Given the description of an element on the screen output the (x, y) to click on. 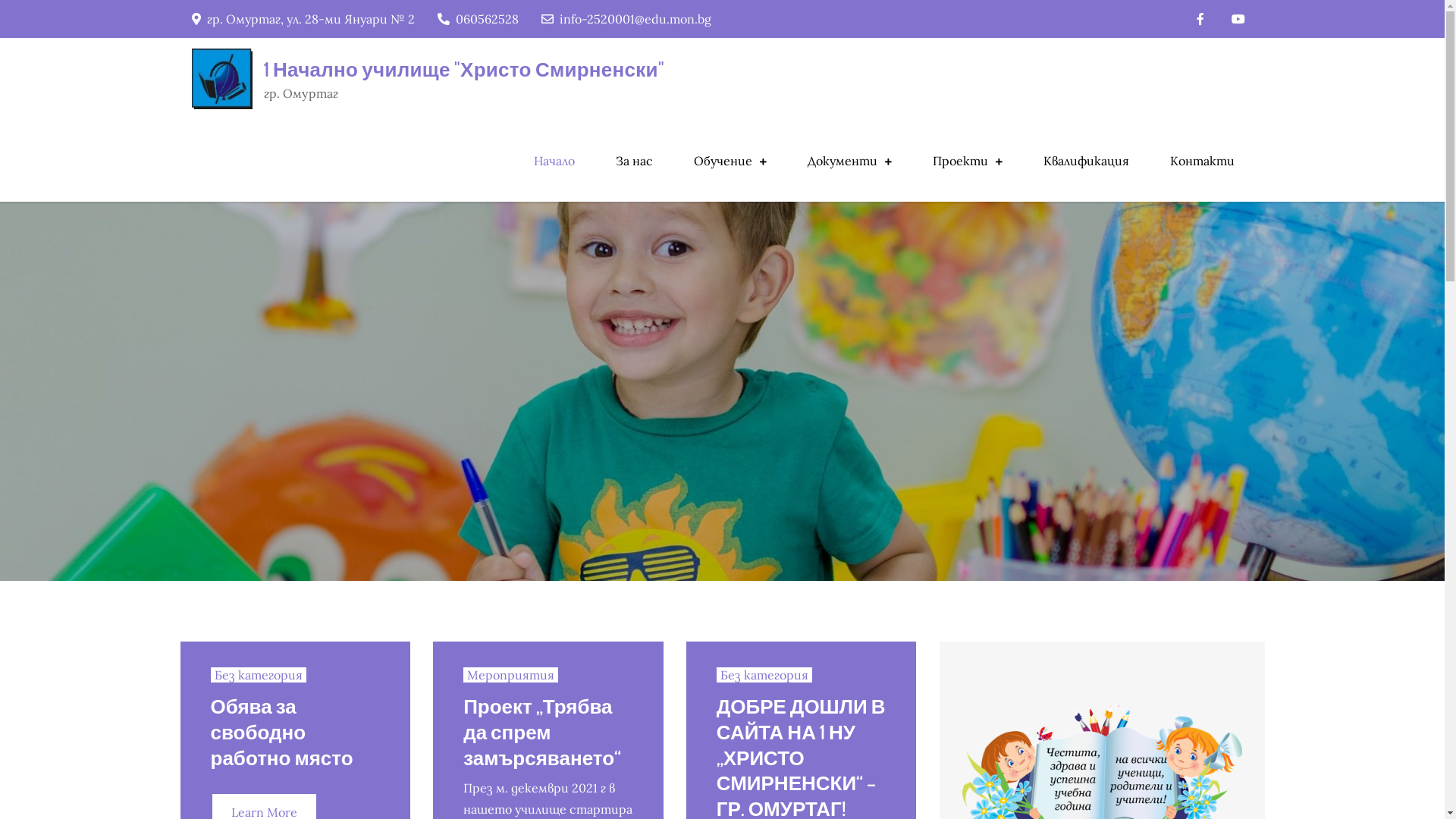
info-2520001@edu.mon.bg Element type: text (626, 18)
060562528 Element type: text (476, 18)
